Given the description of an element on the screen output the (x, y) to click on. 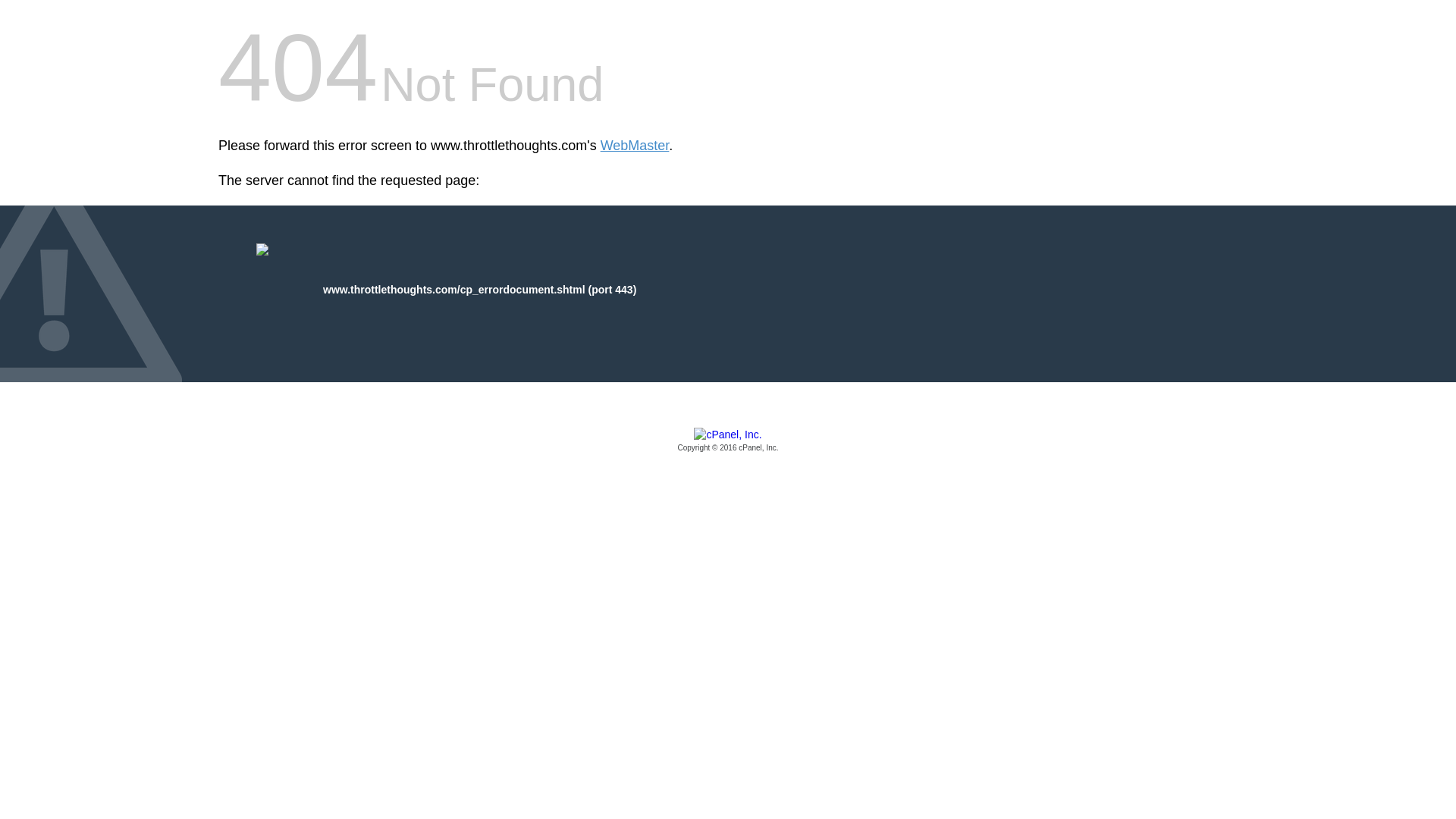
cPanel, Inc. (727, 440)
WebMaster (634, 145)
